Given the description of an element on the screen output the (x, y) to click on. 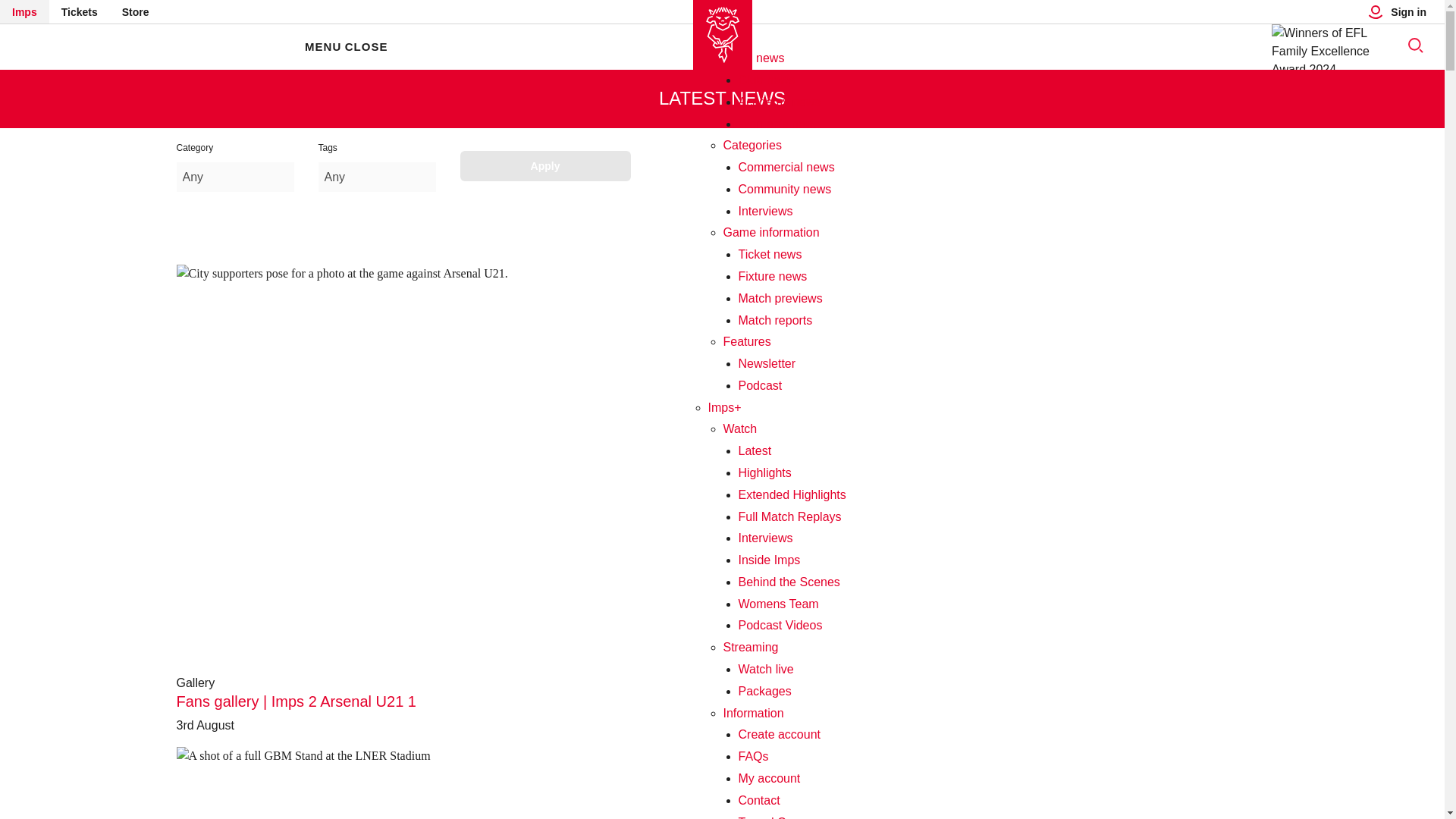
Newsletter (767, 363)
Club news (766, 79)
Apply (545, 165)
Podcast (760, 385)
Academy news (779, 101)
Click for ticket news (770, 254)
Watch (740, 428)
Inside Imps (769, 559)
Click for interviews (765, 210)
Click to create your account (779, 734)
Click for academy news (779, 101)
Team news (753, 57)
Match previews (780, 297)
Women's news (779, 123)
Click here to access your account (769, 778)
